Given the description of an element on the screen output the (x, y) to click on. 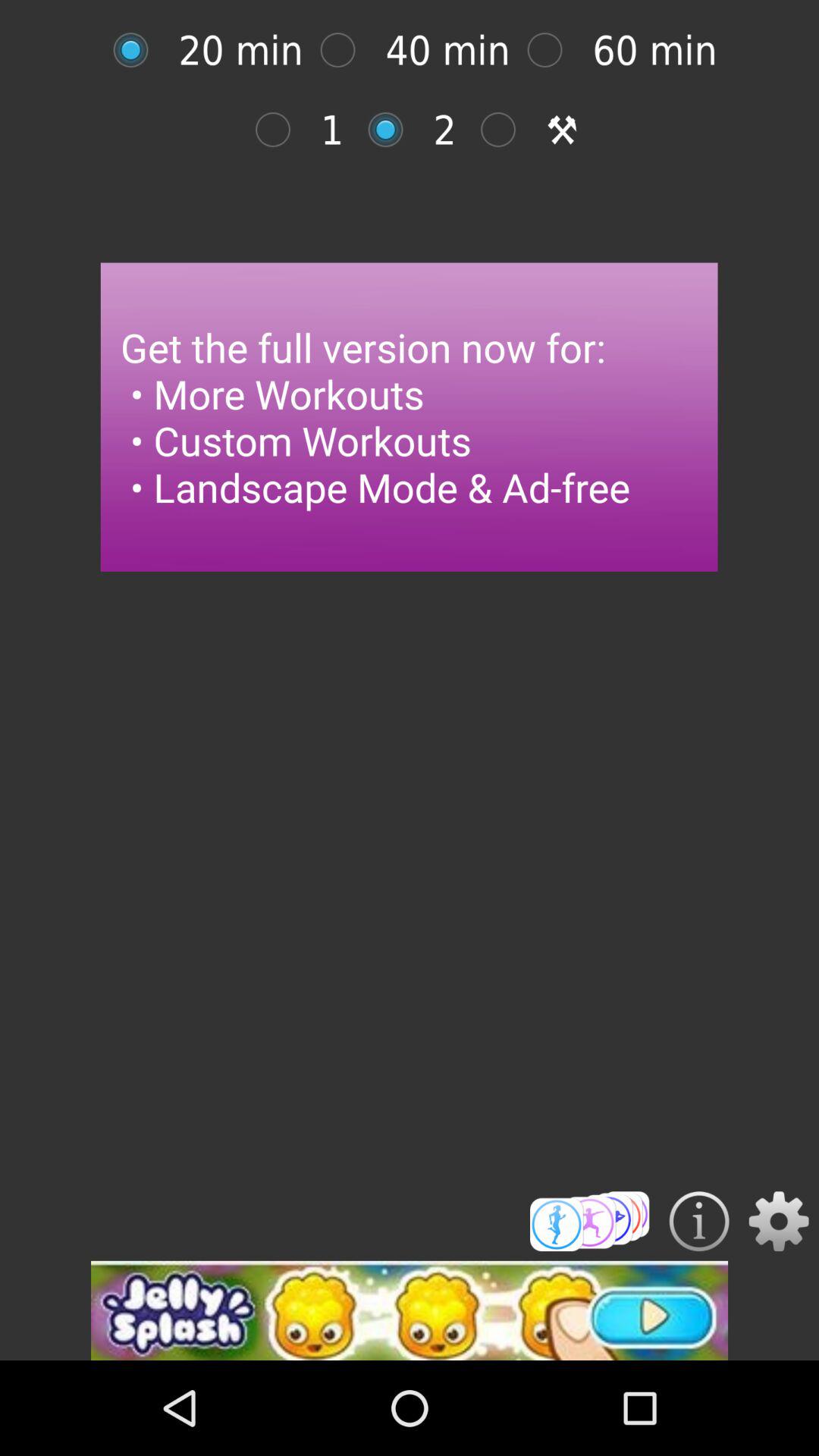
see contact information (699, 1221)
